Given the description of an element on the screen output the (x, y) to click on. 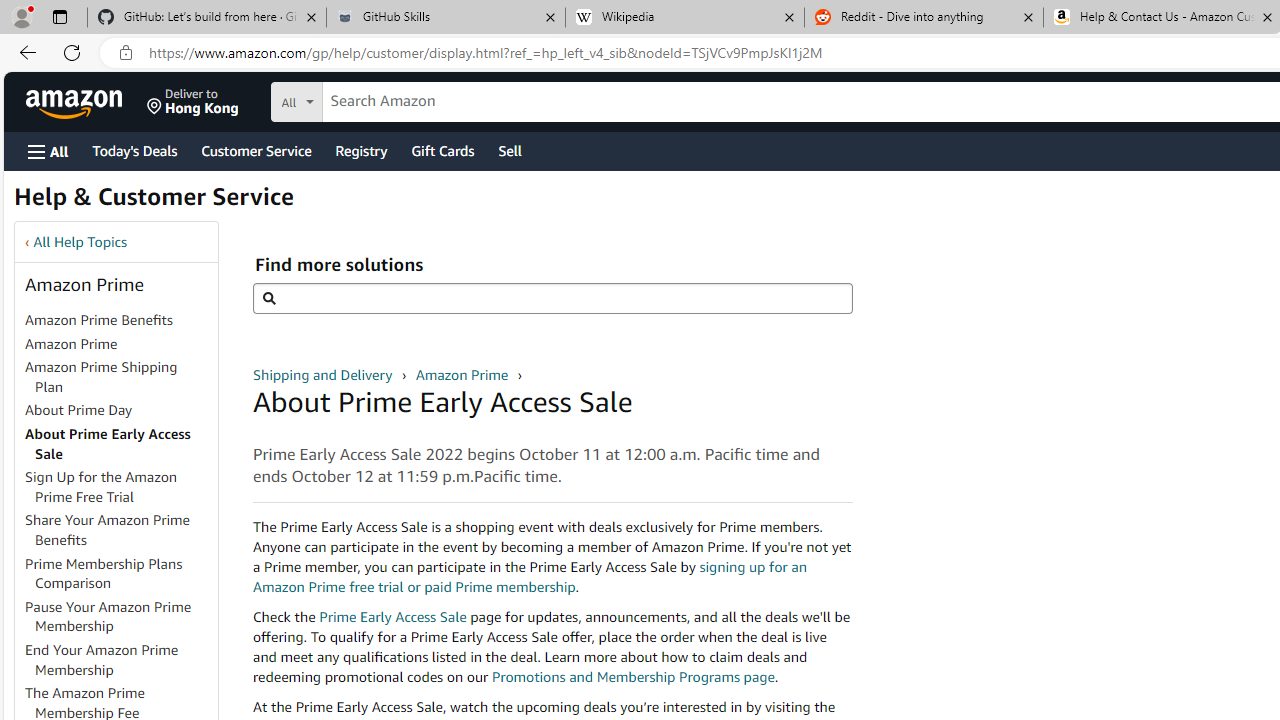
Registry (360, 150)
Sign Up for the Amazon Prime Free Trial (101, 487)
Pause Your Amazon Prime Membership (108, 615)
Amazon Prime  (463, 374)
Amazon Prime (120, 344)
Open Menu (48, 151)
Prime Early Access Sale (392, 615)
Share Your Amazon Prime Benefits (120, 530)
GitHub Skills (445, 17)
Amazon (76, 101)
Share Your Amazon Prime Benefits (107, 529)
All Help Topics (80, 242)
